Given the description of an element on the screen output the (x, y) to click on. 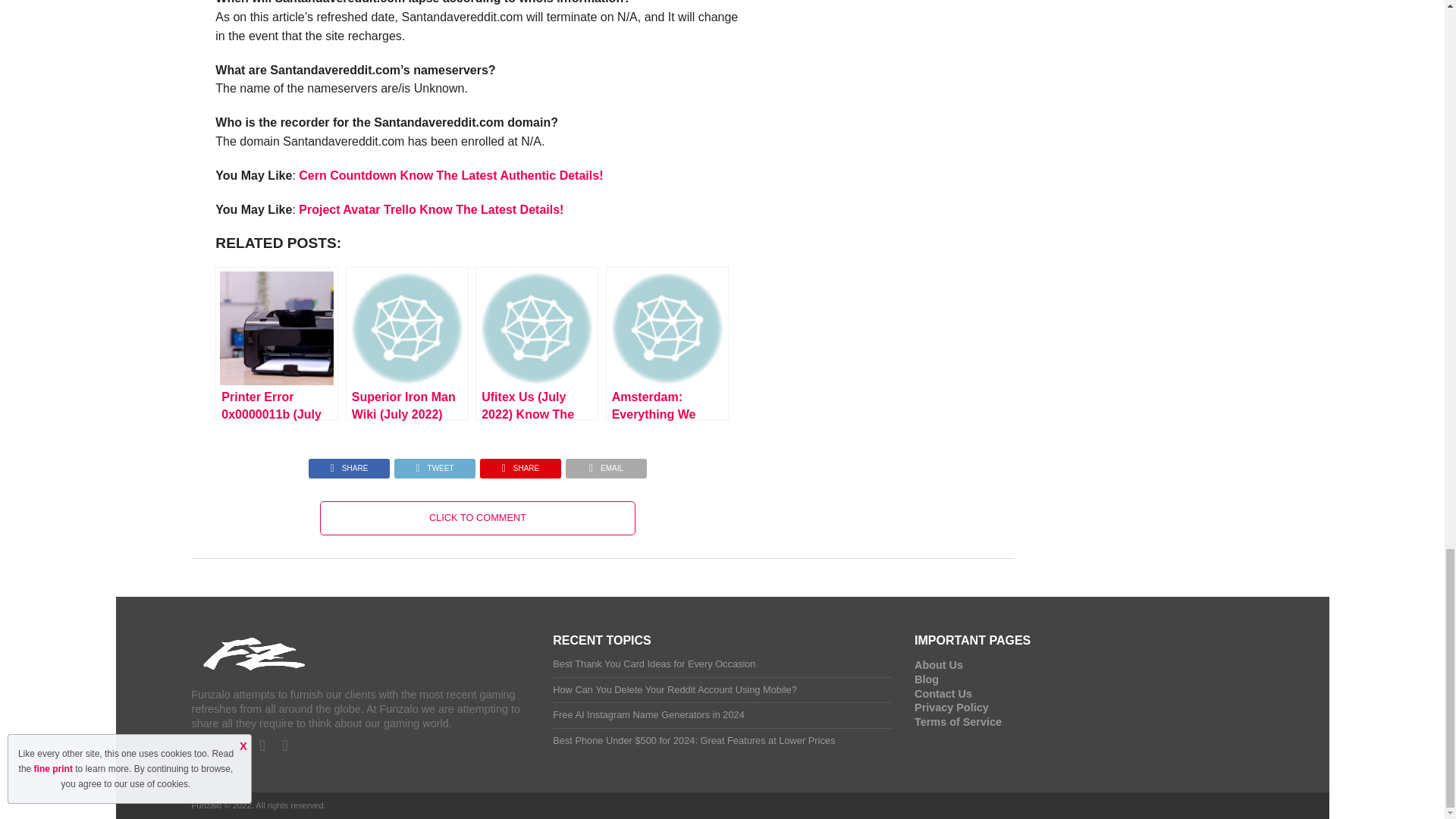
Share on Facebook (349, 463)
SHARE (349, 463)
Project Avatar Trello Know The Latest Details! (430, 209)
TWEET (434, 463)
Cern Countdown Know The Latest Authentic Details! (450, 174)
